Given the description of an element on the screen output the (x, y) to click on. 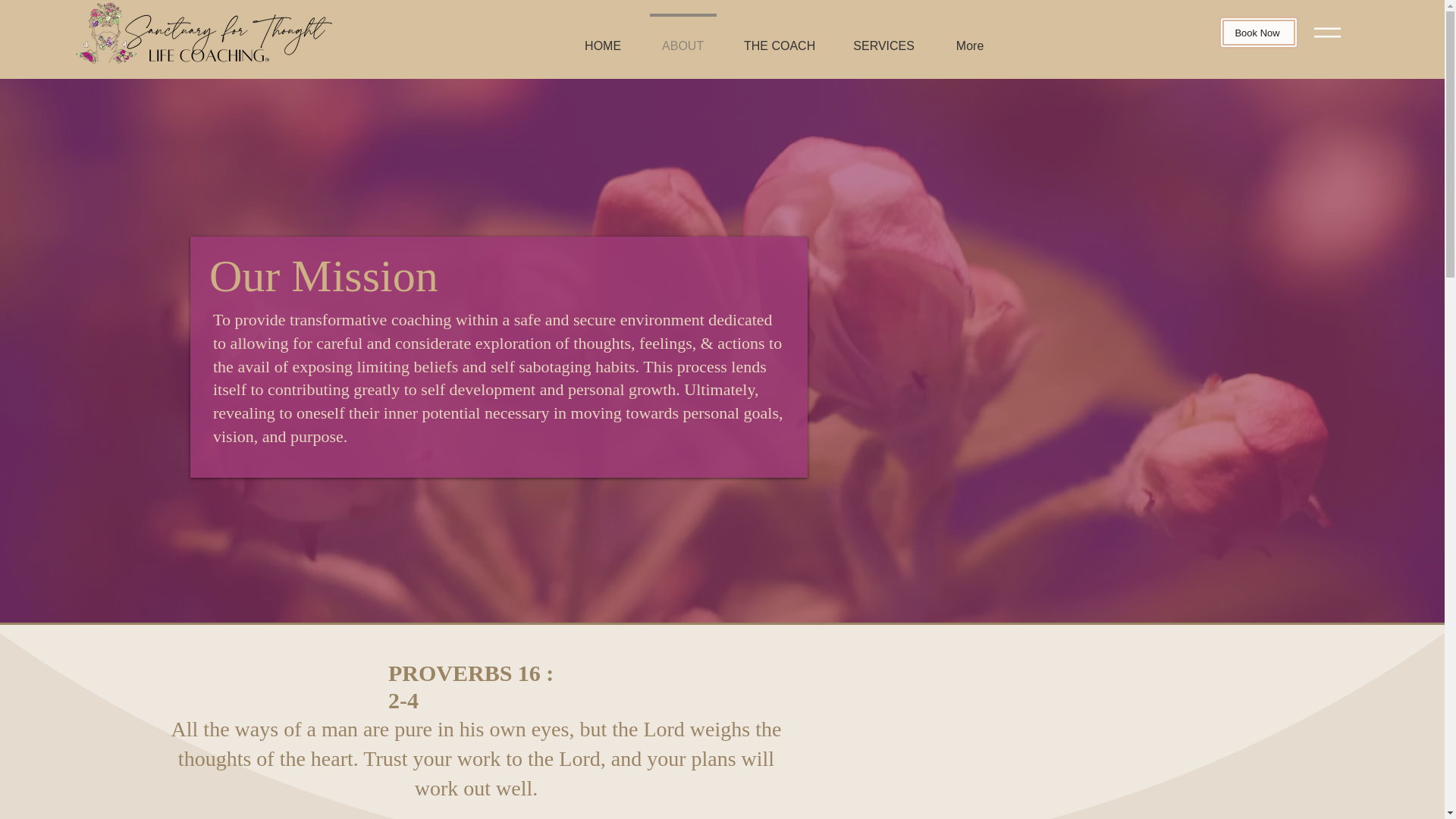
THE COACH (779, 39)
SERVICES (884, 39)
ABOUT (682, 39)
HOME (603, 39)
Book Now (1259, 32)
